Given the description of an element on the screen output the (x, y) to click on. 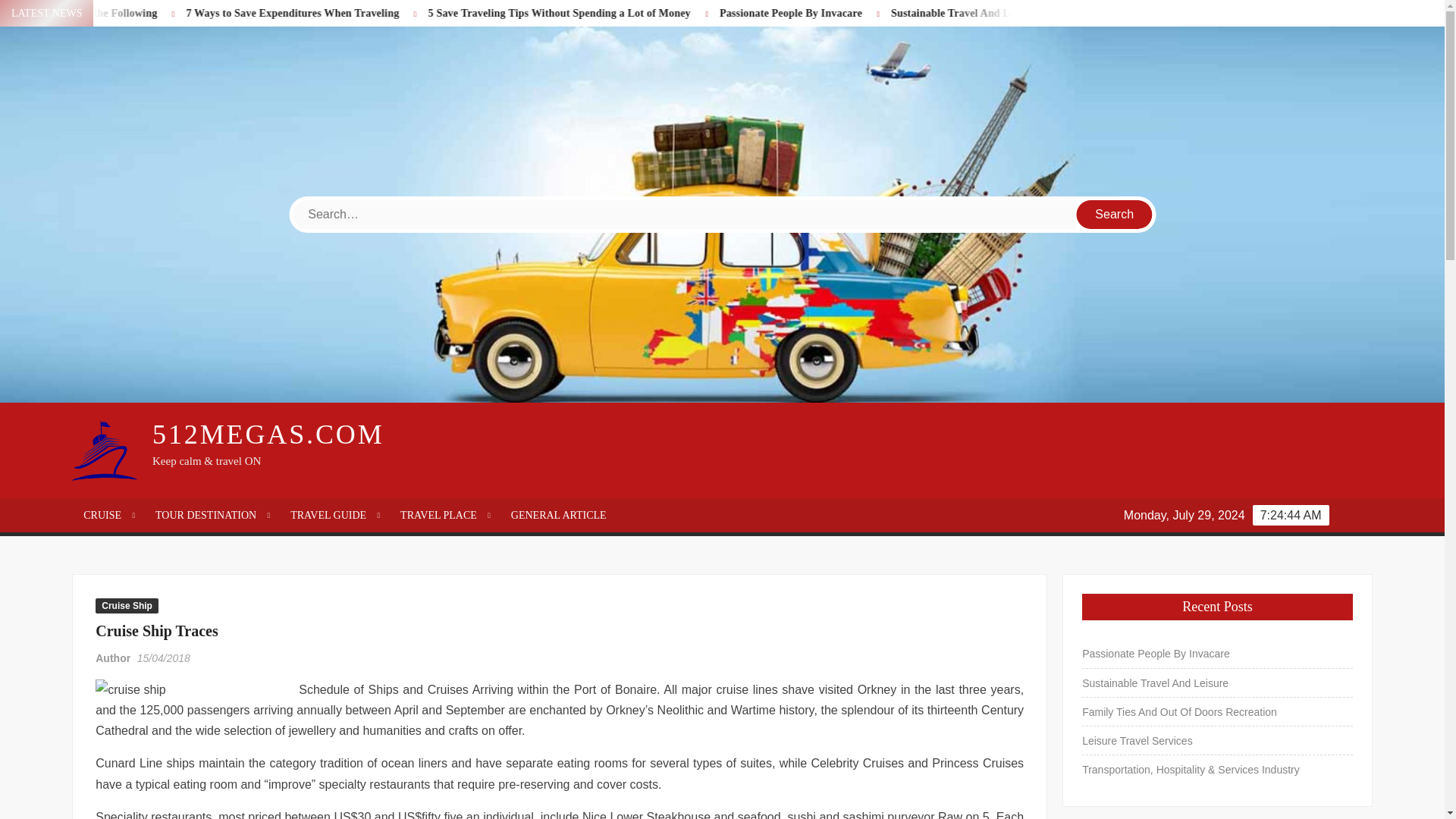
Passionate People By Invacare (879, 12)
Want to Vacation with Pets? Consider Some of the Following (124, 12)
Passionate People By Invacare (865, 12)
Sustainable Travel And Leisure (1037, 12)
7 Ways to Save Expenditures When Traveling (384, 12)
Search (1115, 214)
7 Ways to Save Expenditures When Traveling (370, 12)
5 Save Traveling Tips Without Spending a Lot of Money (636, 12)
Sustainable Travel And Leisure (1051, 12)
Want to Vacation with Pets? Consider Some of the Following (117, 12)
Search (1115, 214)
5 Save Traveling Tips Without Spending a Lot of Money (649, 12)
